Given the description of an element on the screen output the (x, y) to click on. 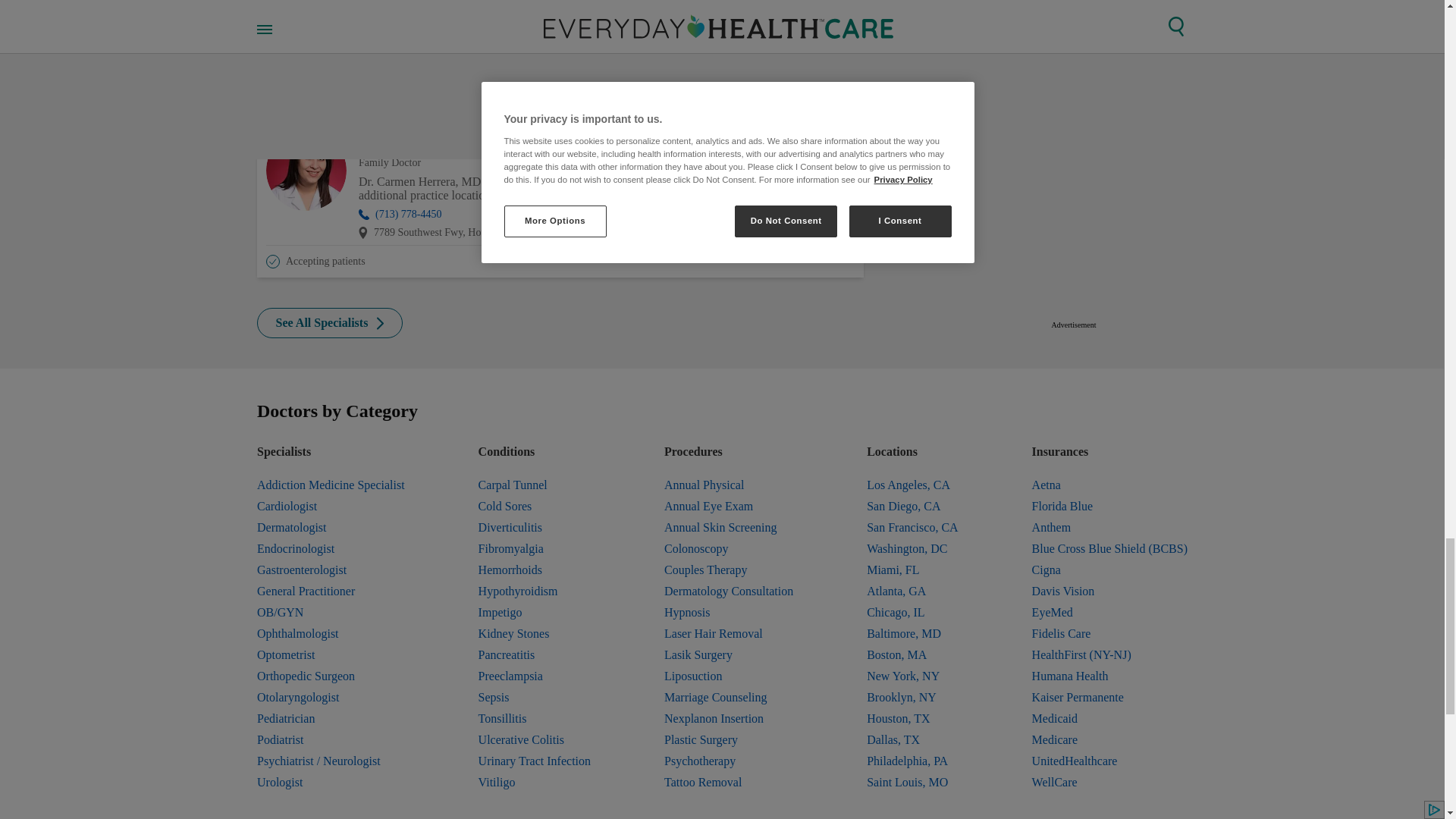
Cardiologist (330, 506)
See All Specialists (330, 322)
Dermatologist (330, 527)
Dr. Carmen Herrera, MD (606, 140)
Endocrinologist (330, 548)
Ophthalmologist (330, 633)
General Practitioner (330, 590)
Optometrist (330, 654)
Gastroenterologist (330, 569)
Addiction Medicine Specialist (330, 485)
